Given the description of an element on the screen output the (x, y) to click on. 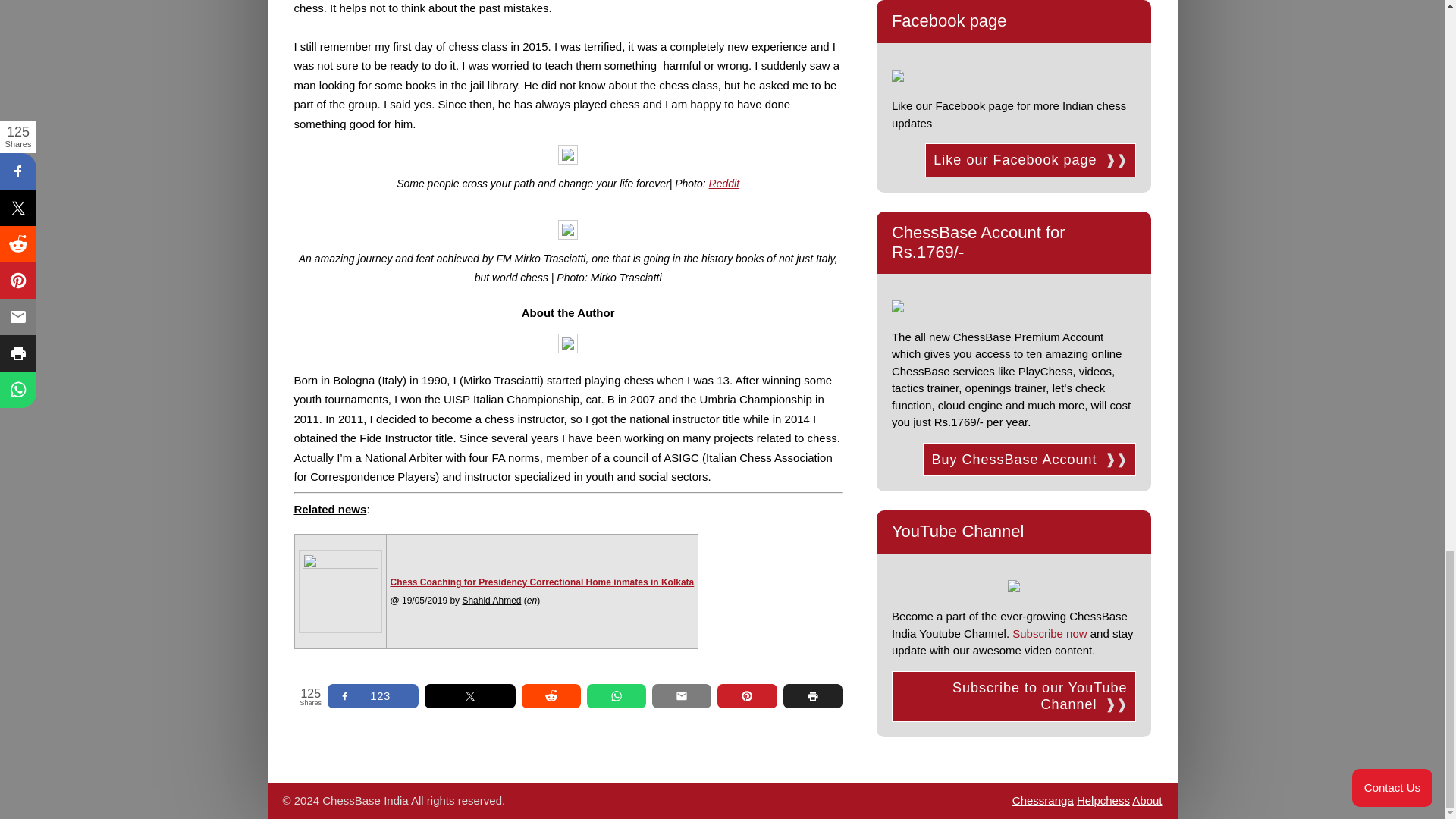
About (1146, 799)
Like our Facebook page (1029, 160)
Subscribe to our YouTube Channel (1013, 695)
Buy ChessBase Account (1029, 459)
Helpchess (1103, 799)
Chessranga (1042, 799)
Subscribe now (1048, 633)
Reddit (724, 183)
